Given the description of an element on the screen output the (x, y) to click on. 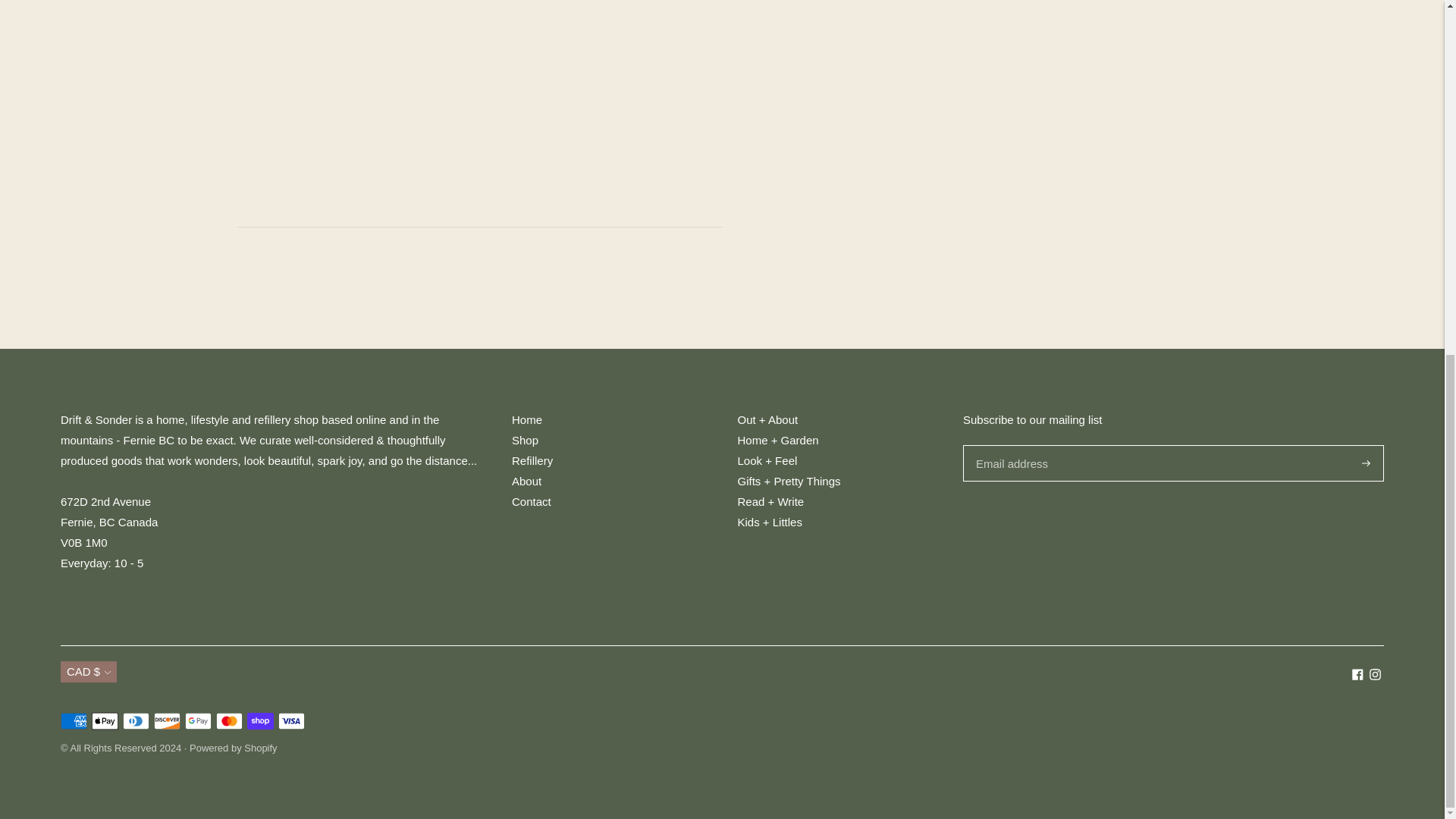
Apple Pay (104, 720)
Diners Club (135, 720)
American Express (74, 720)
Shop Pay (260, 720)
Visa (291, 720)
Google Pay (197, 720)
Mastercard (229, 720)
Discover (167, 720)
